Given the description of an element on the screen output the (x, y) to click on. 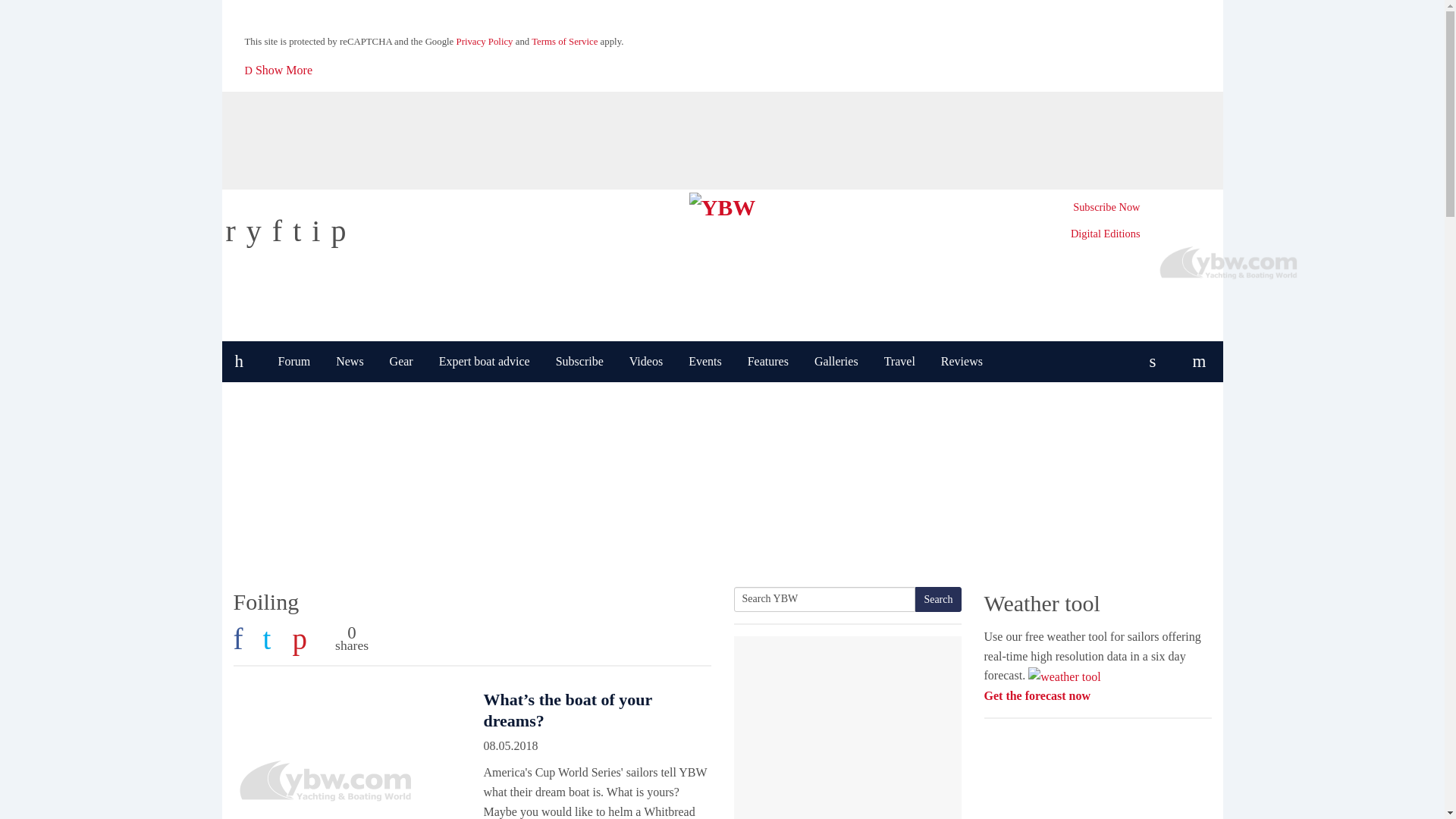
Digital Editions (1105, 233)
YBW (721, 204)
Terms of Service (563, 41)
Digital Editions (1105, 233)
YBW (721, 204)
Privacy Policy (485, 41)
Subscribe Now (1106, 206)
Show More (278, 69)
Subscribe Now (1106, 206)
Forum (293, 361)
